Given the description of an element on the screen output the (x, y) to click on. 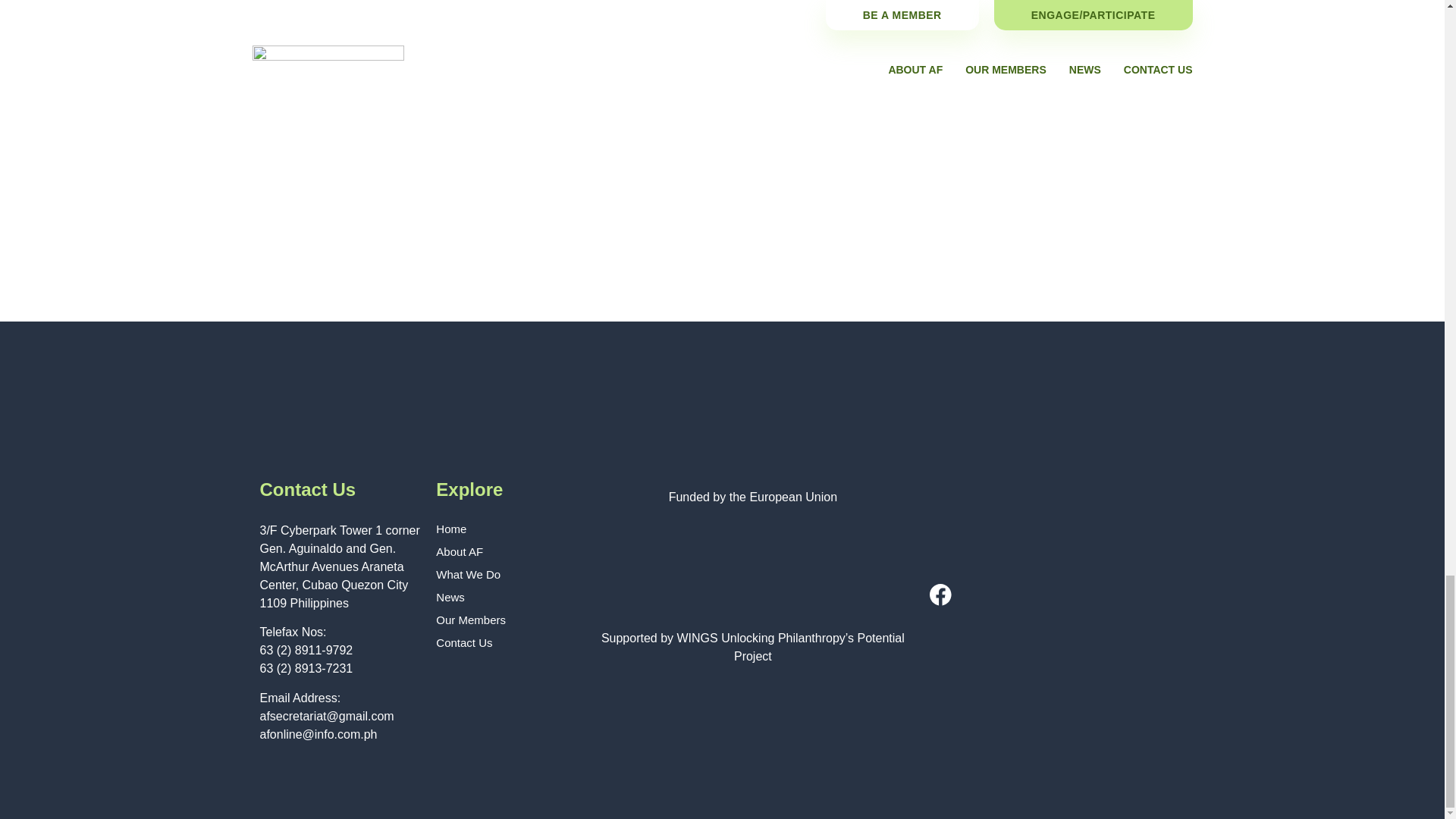
Home (505, 529)
What We Do (505, 574)
About AF (505, 551)
